Given the description of an element on the screen output the (x, y) to click on. 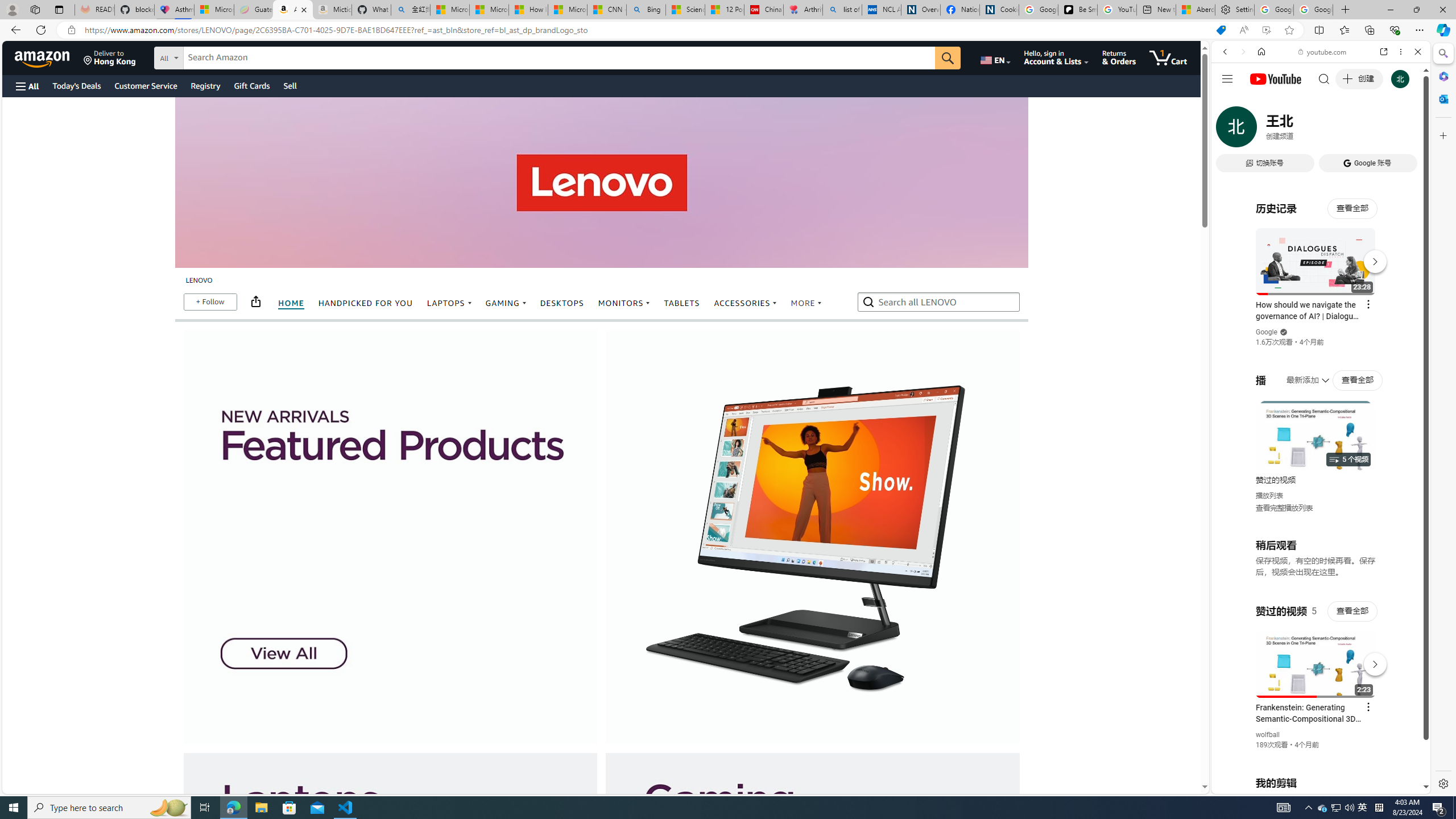
Show More Music (1390, 310)
HOME (289, 303)
CNN - MSN (606, 9)
DESKTOPS (561, 302)
